Given the description of an element on the screen output the (x, y) to click on. 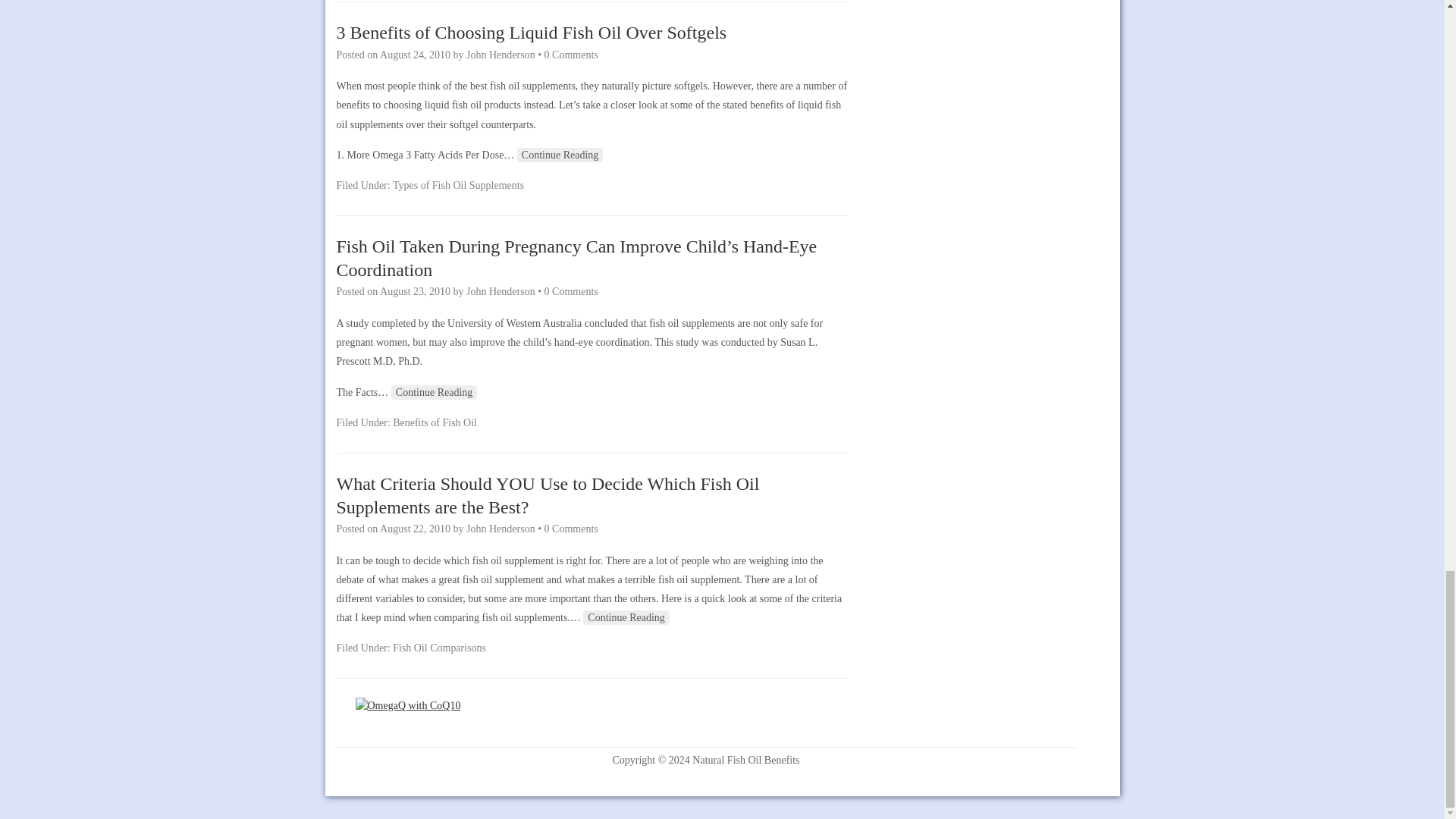
John Henderson (500, 54)
3 Benefits of Choosing Liquid Fish Oil Over Softgels (531, 32)
0 Comments (571, 54)
Types of Fish Oil Supplements (458, 184)
Continue Reading (560, 155)
